Given the description of an element on the screen output the (x, y) to click on. 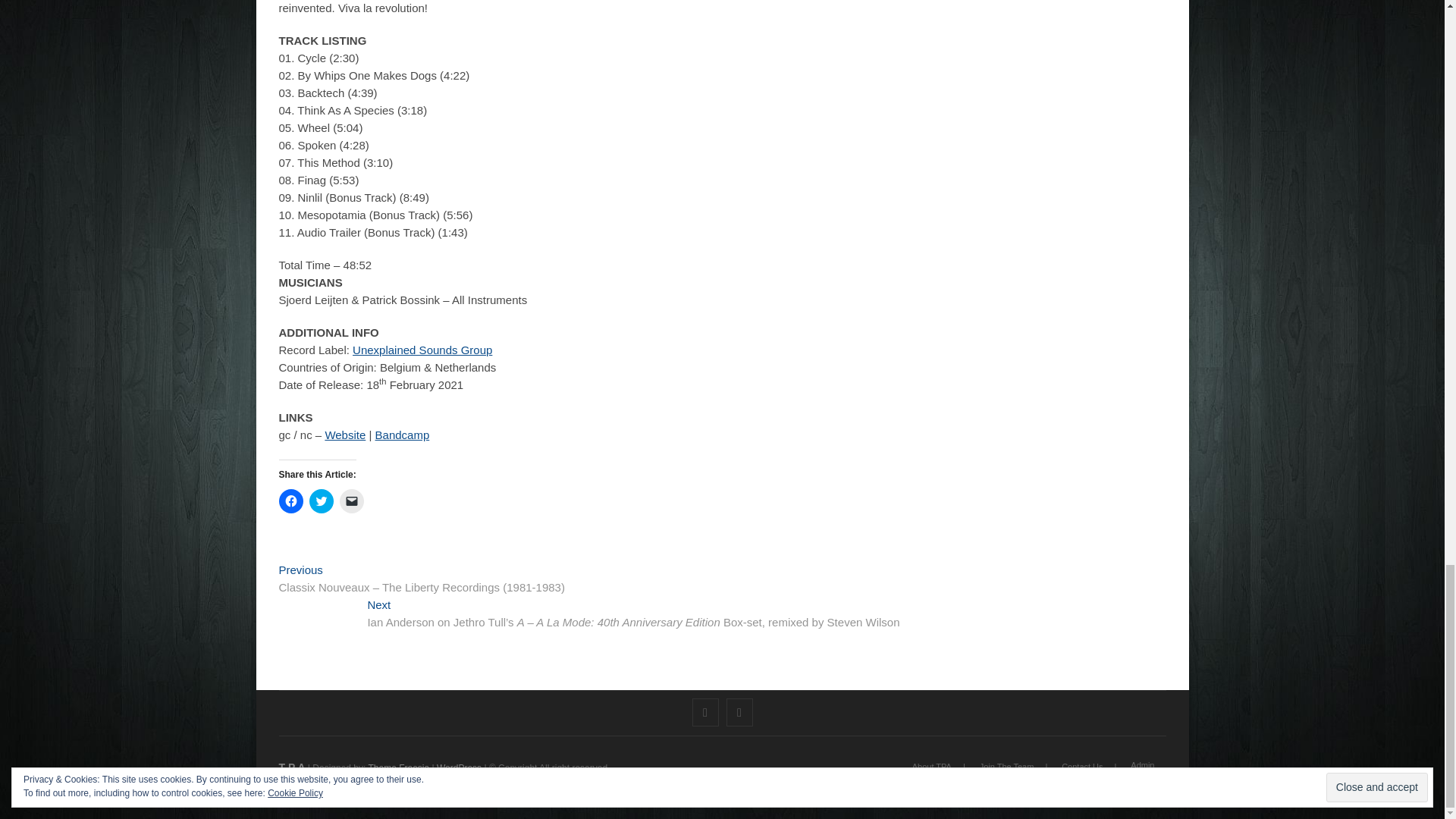
Website (344, 434)
Unexplained Sounds Group (422, 349)
